Given the description of an element on the screen output the (x, y) to click on. 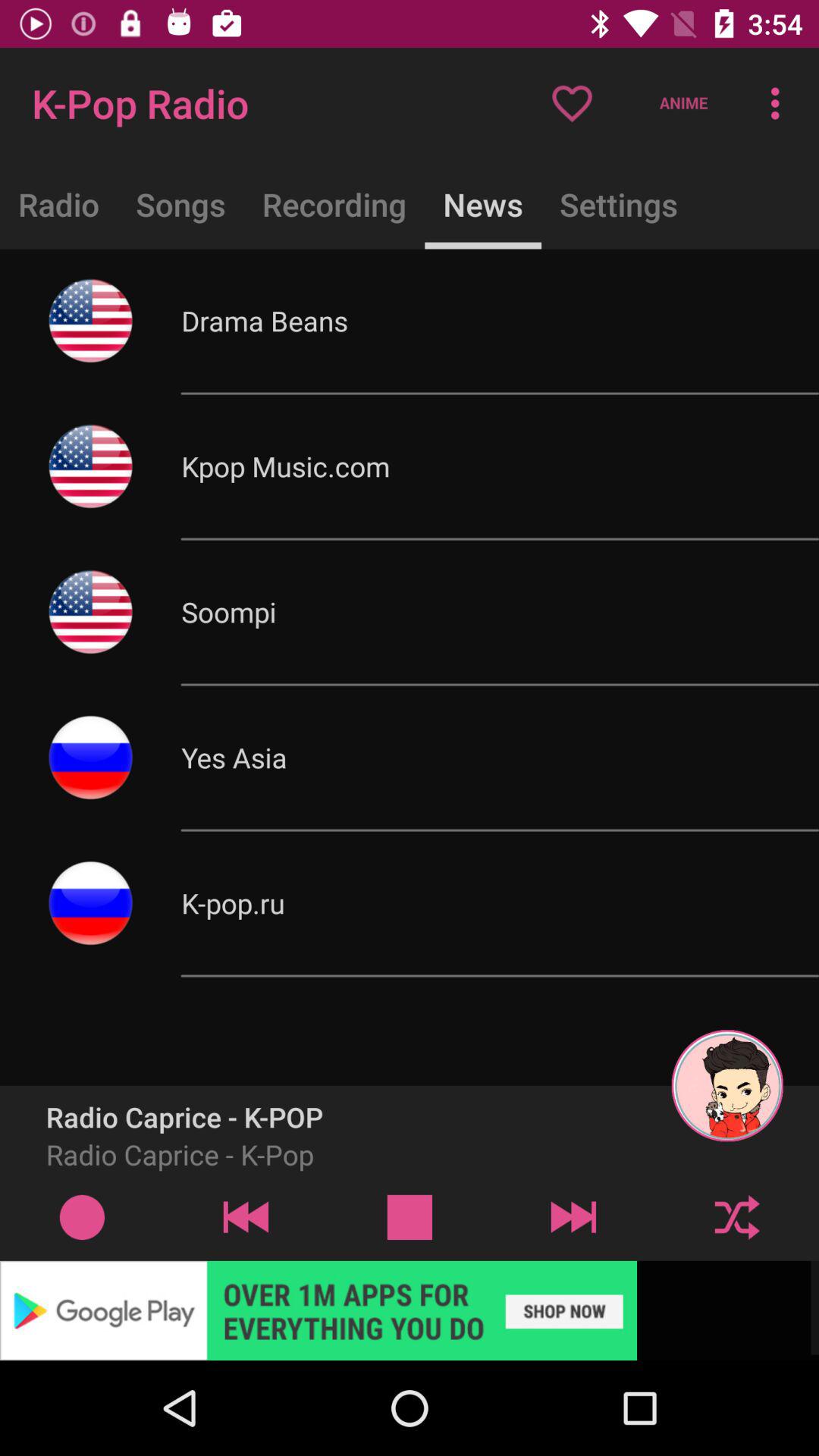
stop playback (409, 1216)
